Given the description of an element on the screen output the (x, y) to click on. 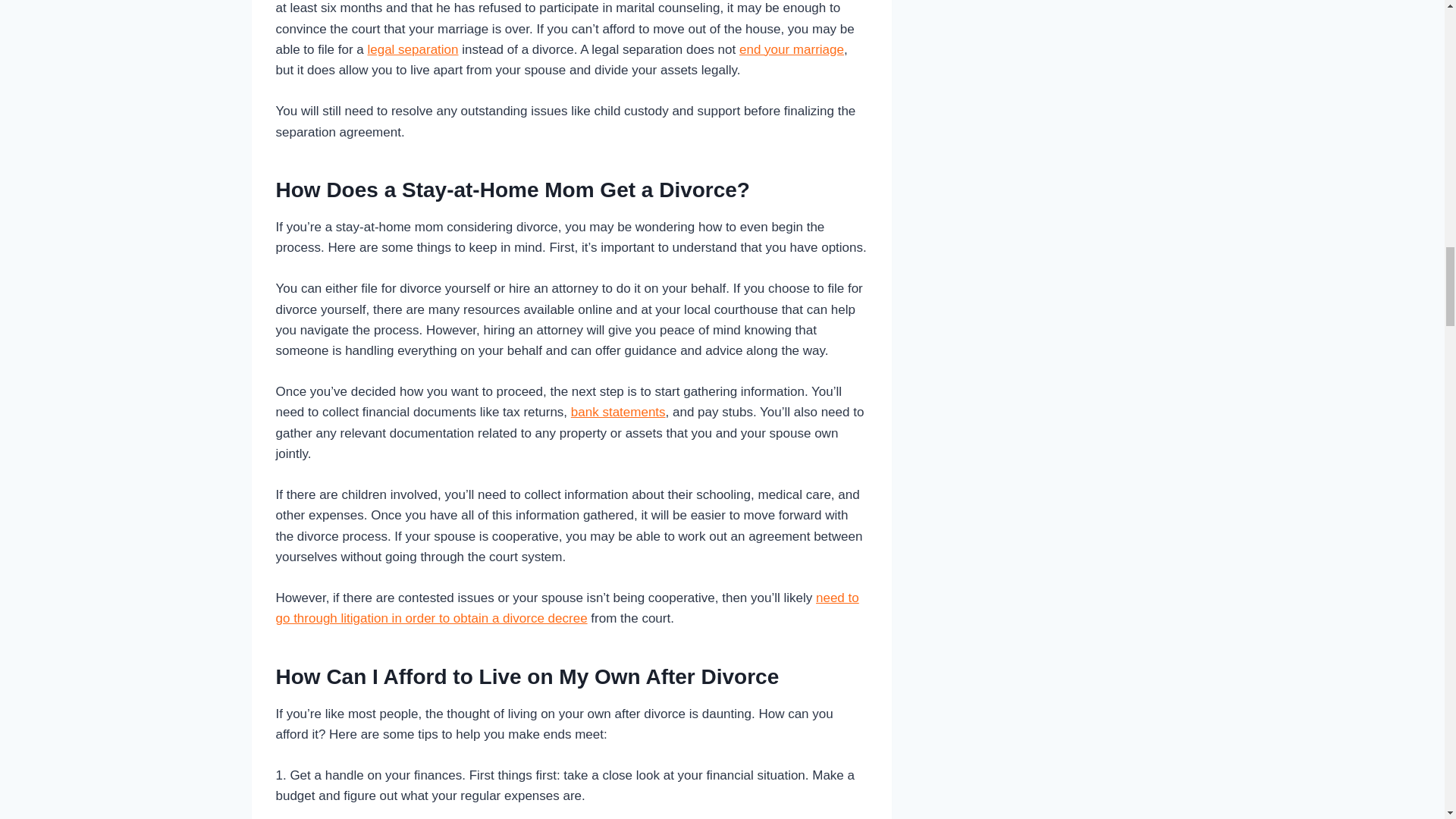
bank statements (617, 411)
legal separation (412, 49)
end your marriage (791, 49)
